Given the description of an element on the screen output the (x, y) to click on. 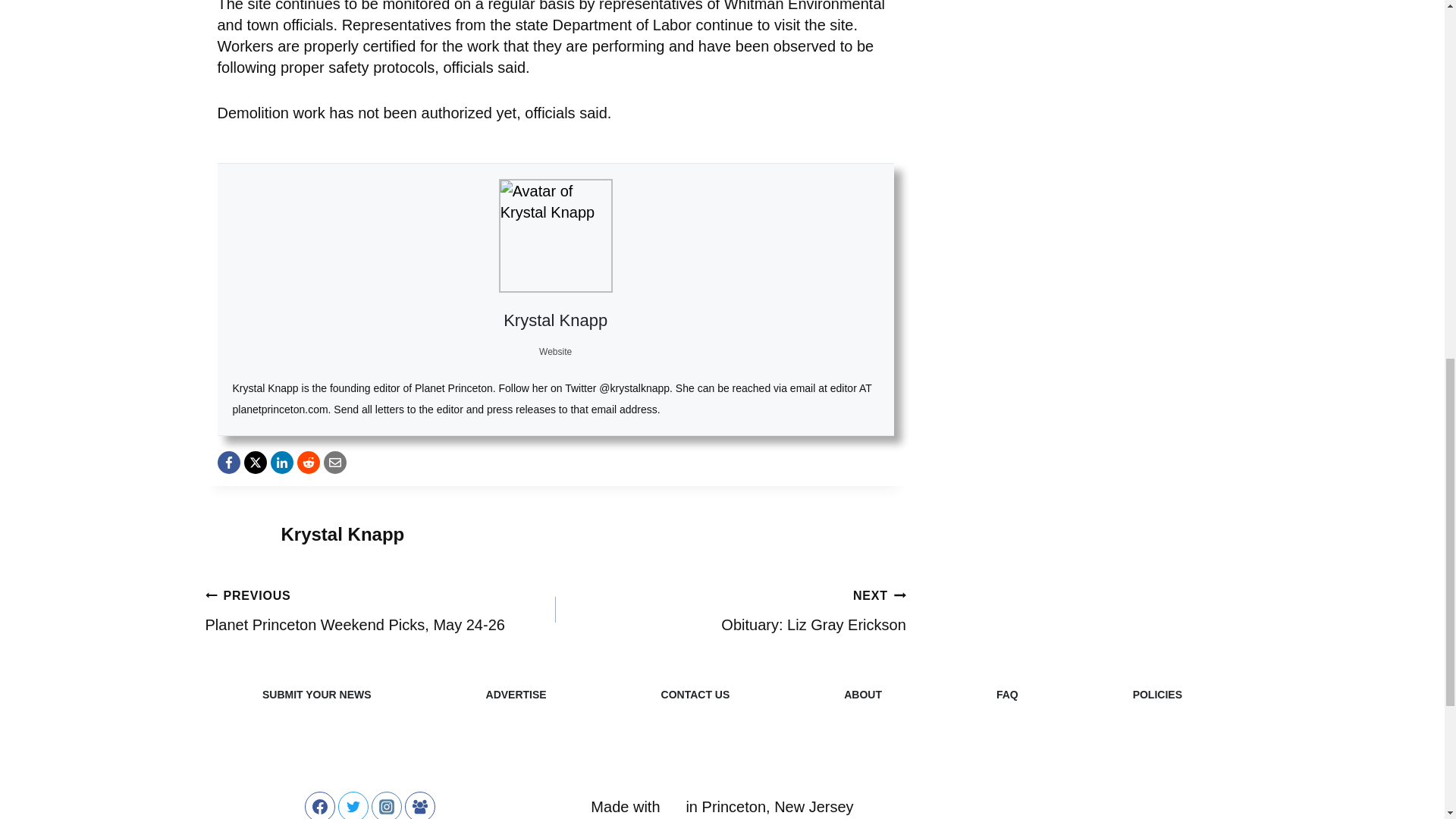
Website (555, 351)
Krystal Knapp (555, 320)
